Given the description of an element on the screen output the (x, y) to click on. 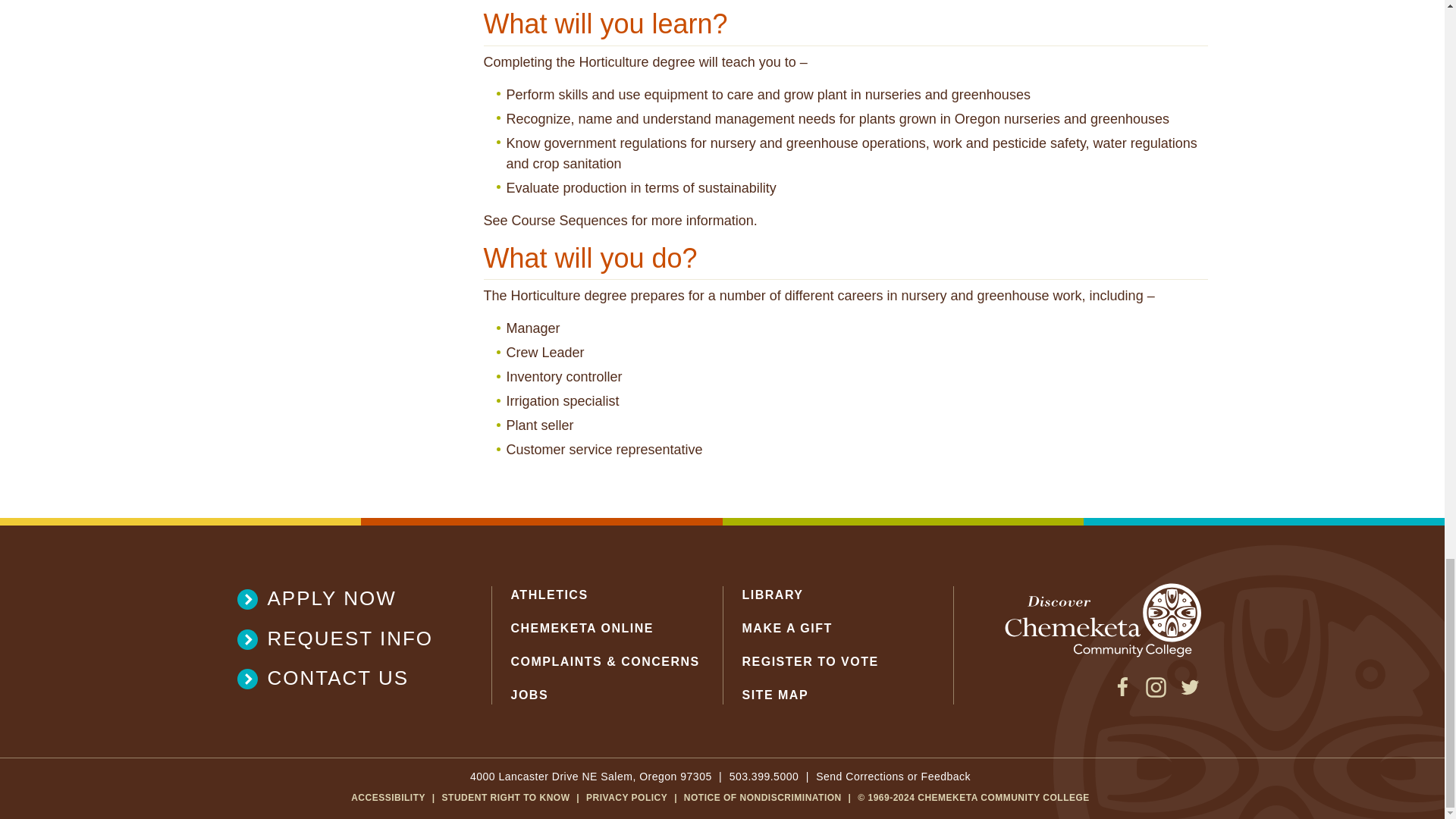
Twitter (1189, 693)
Instagram (1155, 693)
Facebook (1122, 693)
Contact Us (343, 678)
Request Info (343, 638)
Apply Now (343, 598)
